Given the description of an element on the screen output the (x, y) to click on. 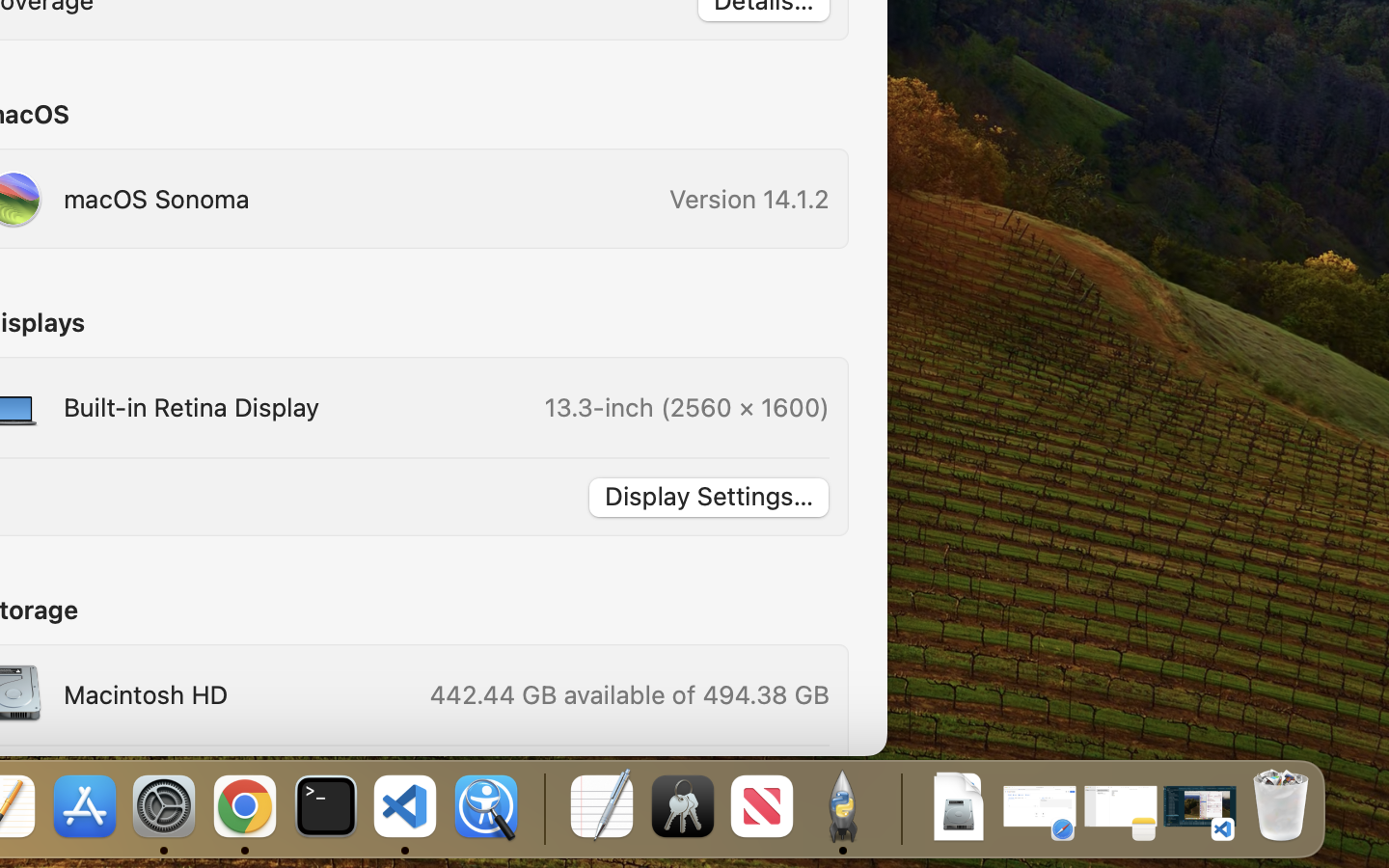
Version 14.1.2 Element type: AXStaticText (749, 198)
0.4285714328289032 Element type: AXDockItem (541, 807)
442.44 GB available of 494.38 GB Element type: AXStaticText (627, 693)
13.3-inch (2560 × 1600) Element type: AXStaticText (686, 406)
